Given the description of an element on the screen output the (x, y) to click on. 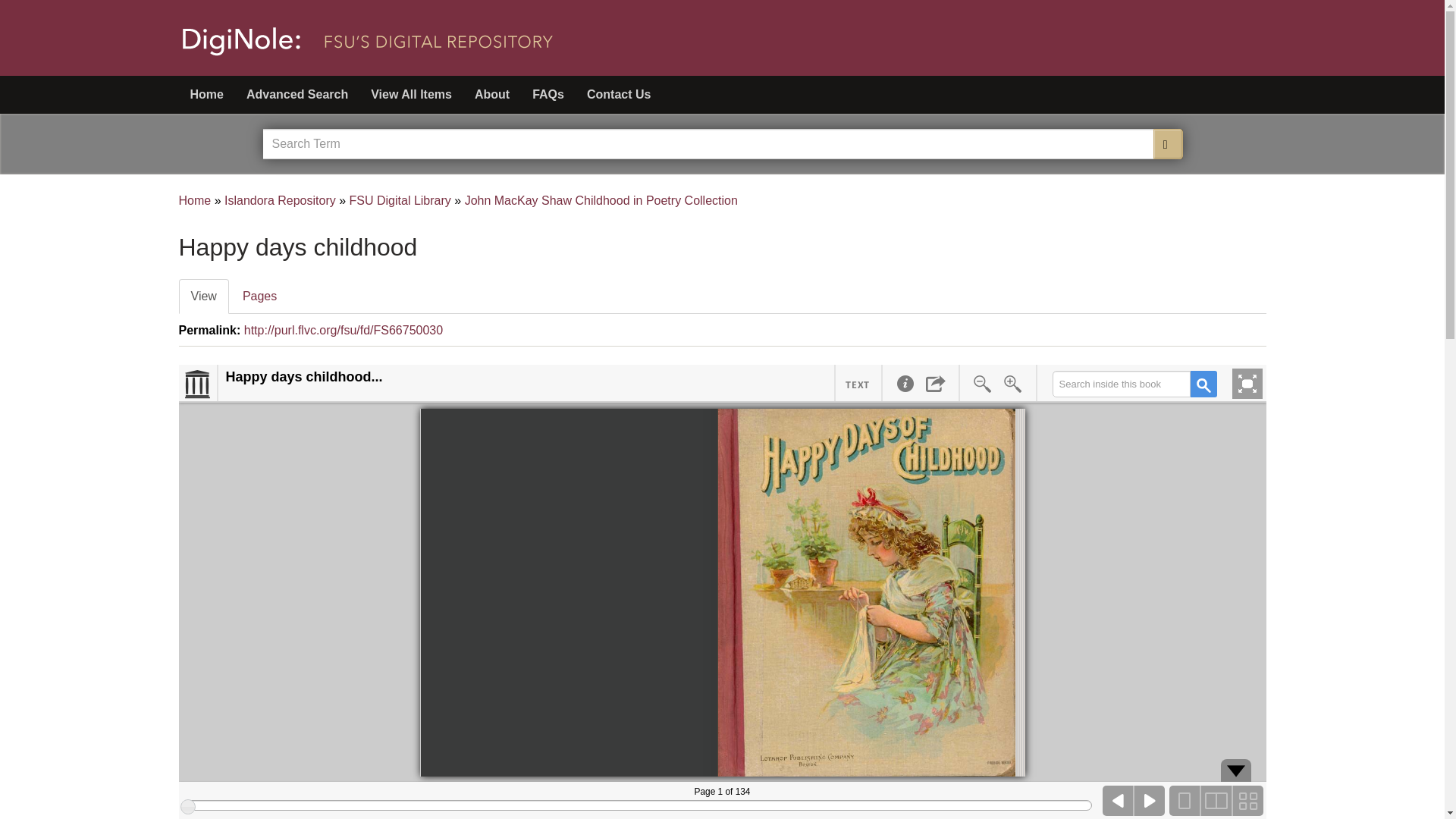
Show fullscreen (1246, 383)
Home (211, 94)
Advanced Search (296, 94)
Happy days childhood... (303, 377)
Thumbnail view (1247, 800)
Previous Page (1118, 800)
Next Page (1149, 800)
View All Items (411, 94)
Two-page view (1216, 800)
One-page view (1185, 800)
Go to Archive.org (197, 384)
